Given the description of an element on the screen output the (x, y) to click on. 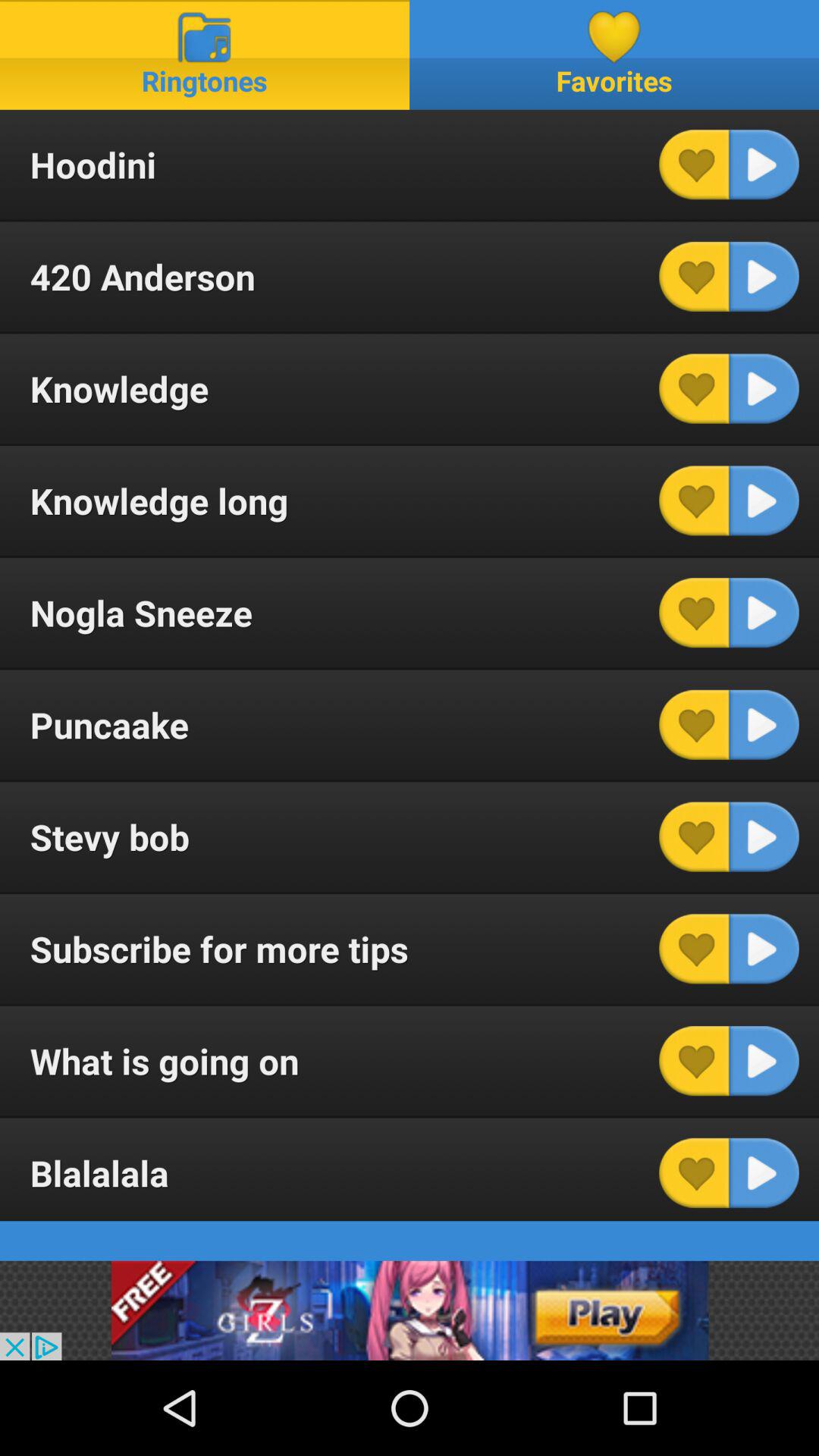
add to favorites (694, 724)
